Given the description of an element on the screen output the (x, y) to click on. 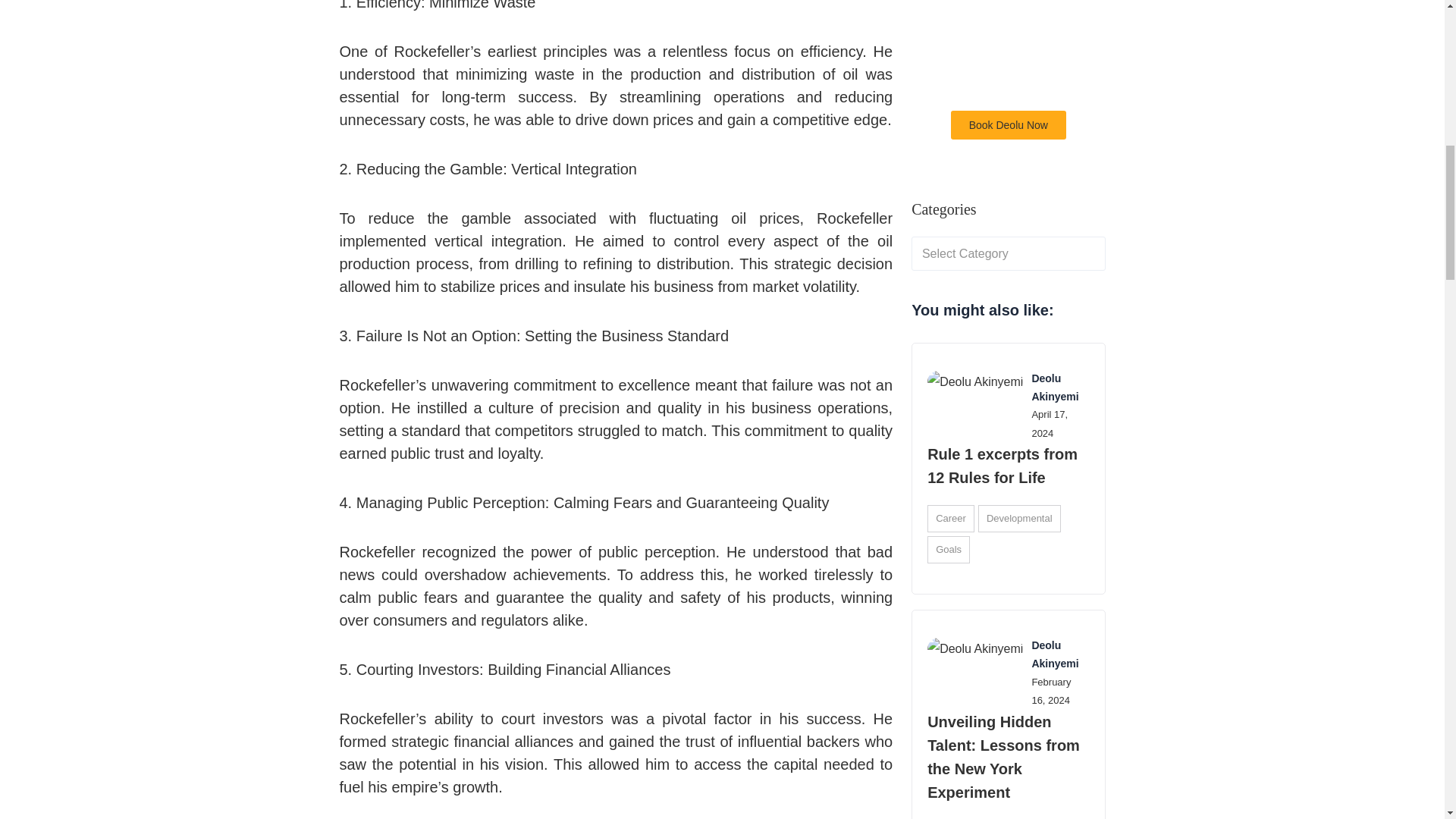
Rule 1 excerpts from 12 Rules for Life (1002, 465)
Goals (948, 549)
Book Deolu Now (1007, 124)
Developmental (1019, 518)
Career (950, 518)
